Given the description of an element on the screen output the (x, y) to click on. 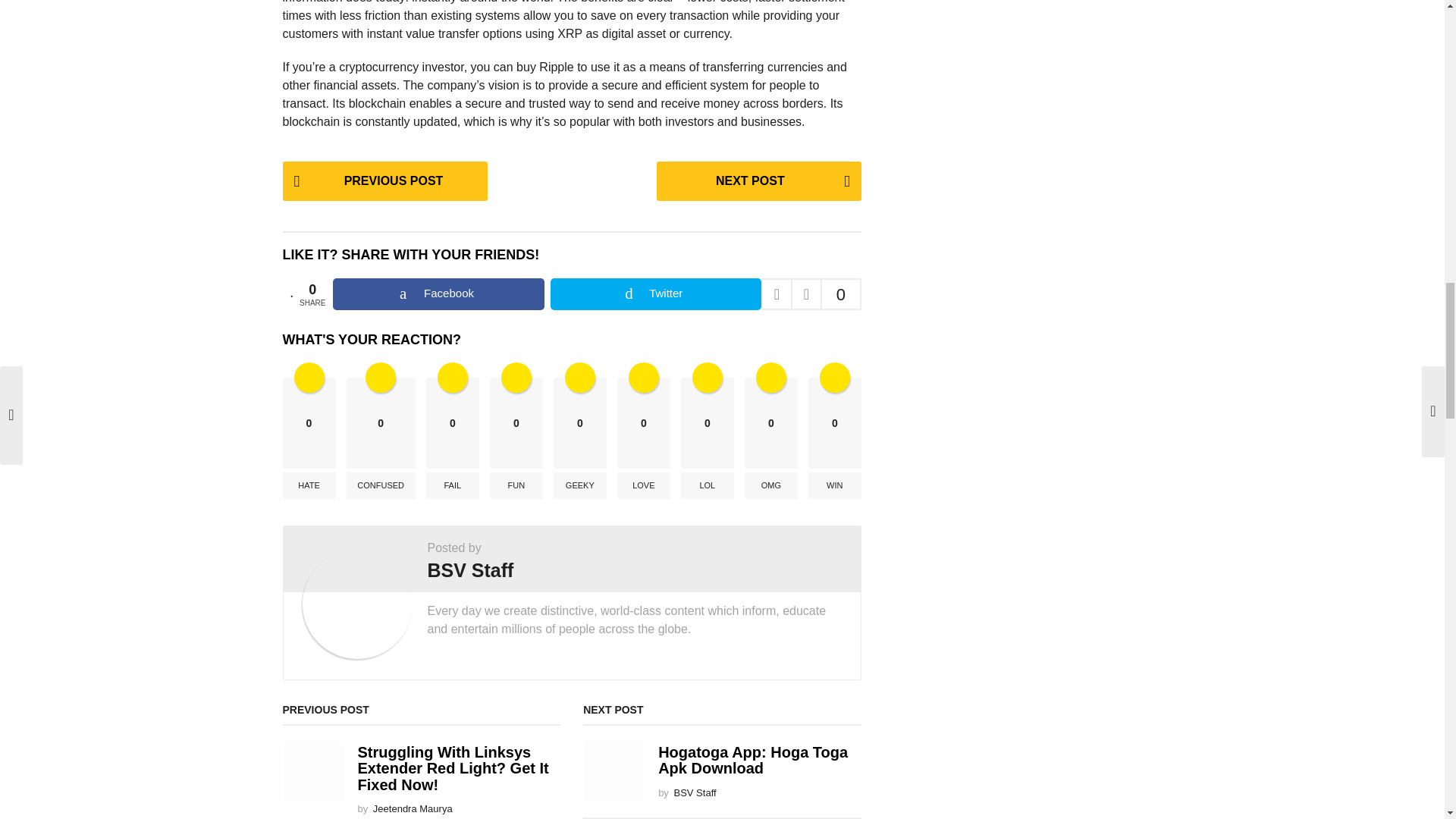
CONFUSED (380, 485)
FAIL (452, 485)
PREVIOUS POST (384, 181)
Share on Facebook (438, 294)
FUN (516, 485)
Share on Twitter (655, 294)
Facebook (438, 294)
Twitter (655, 294)
NEXT POST (758, 181)
HATE (308, 485)
